Given the description of an element on the screen output the (x, y) to click on. 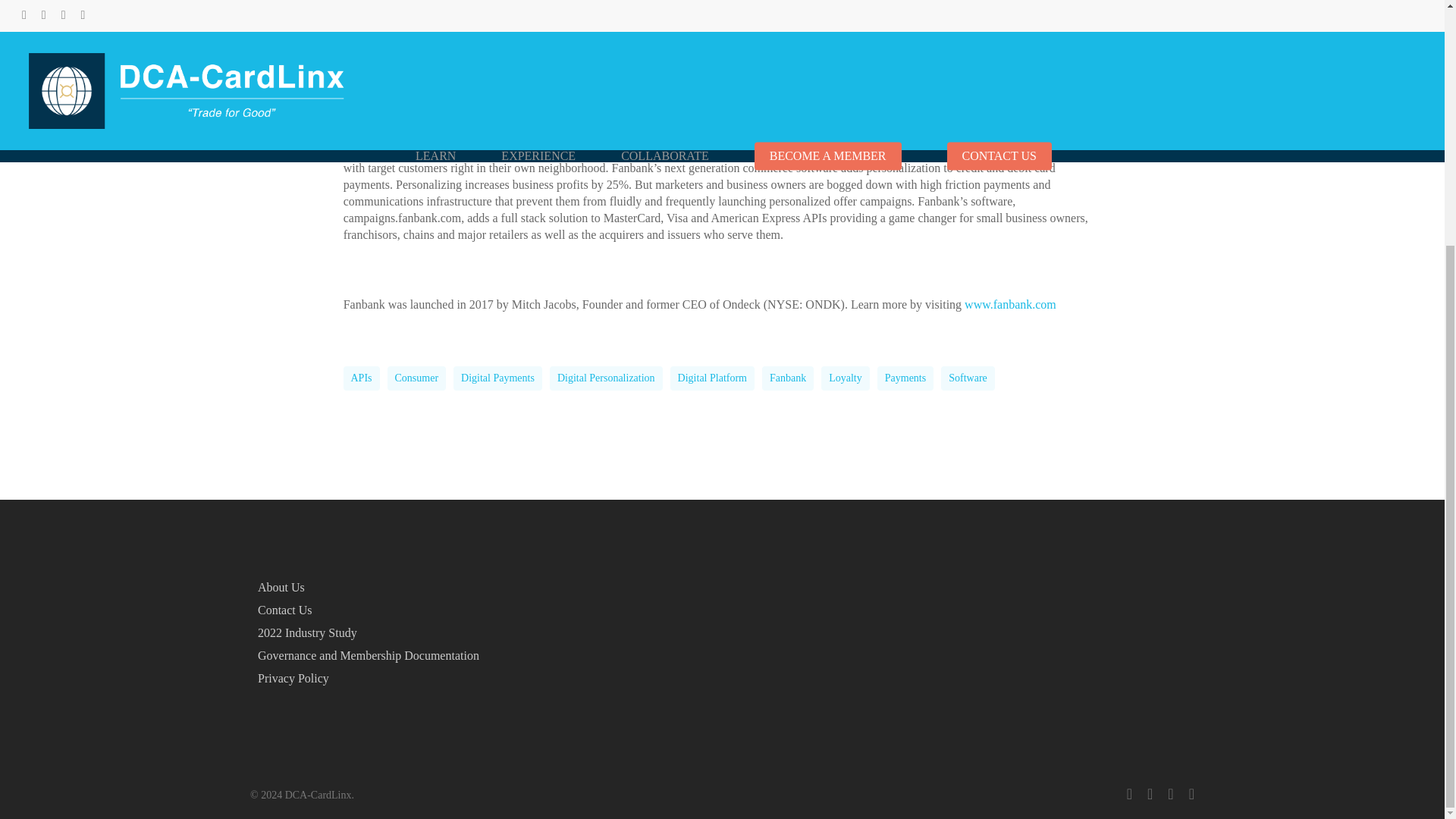
Digital Platform (711, 378)
Digital Commerce Alliance (659, 3)
Fanbank (787, 378)
APIs (360, 378)
www.fanbank.com (1010, 304)
Posts by Digital Commerce Alliance (659, 3)
Digital Payments (496, 378)
Digital Personalization (606, 378)
Consumer (416, 378)
